Given the description of an element on the screen output the (x, y) to click on. 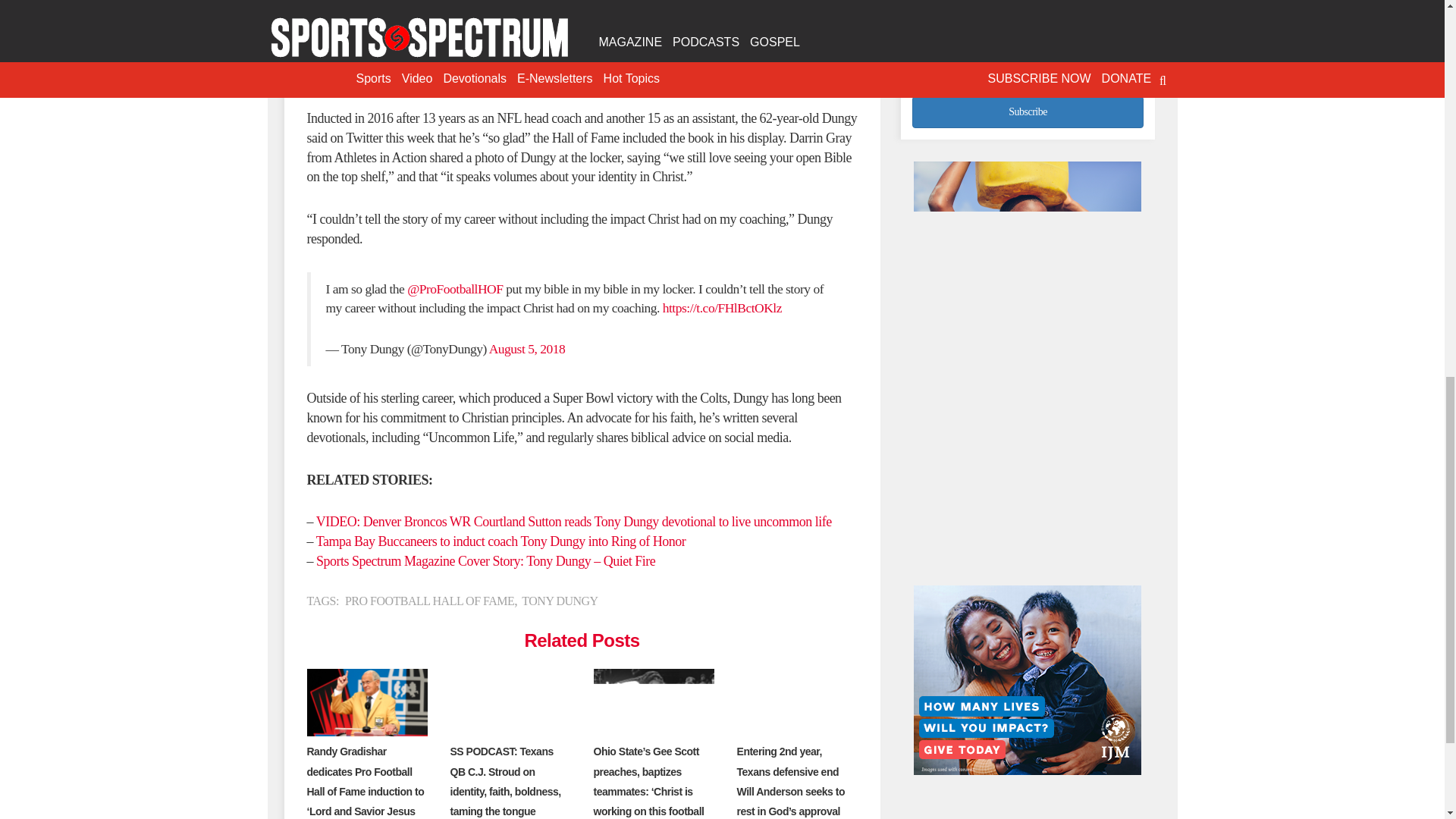
International Phone Number (1027, 58)
PRO FOOTBALL HALL OF FAME (429, 600)
August 5, 2018 (526, 348)
TONY DUNGY (558, 600)
